Given the description of an element on the screen output the (x, y) to click on. 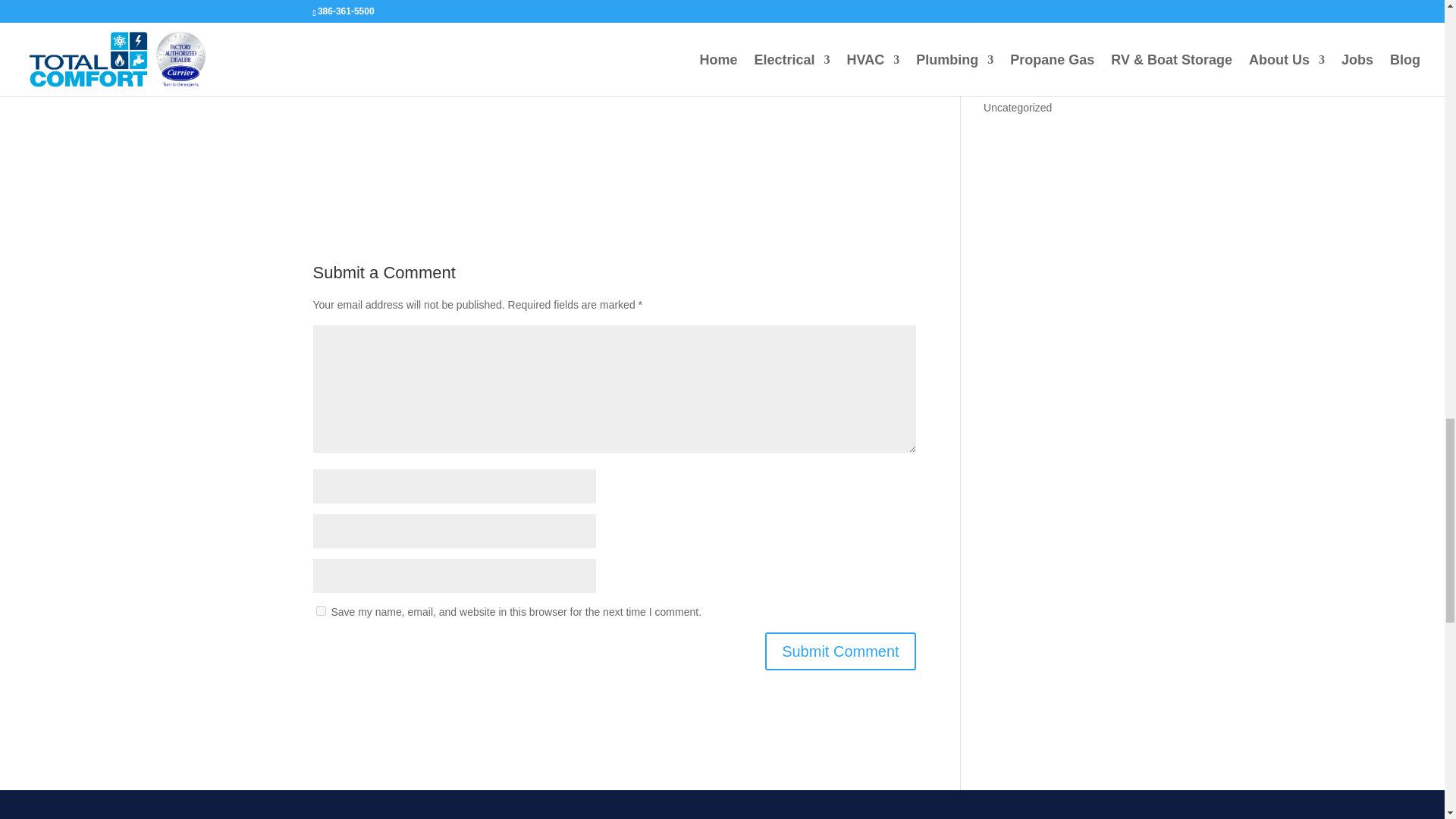
yes (319, 610)
Submit Comment (840, 651)
